Given the description of an element on the screen output the (x, y) to click on. 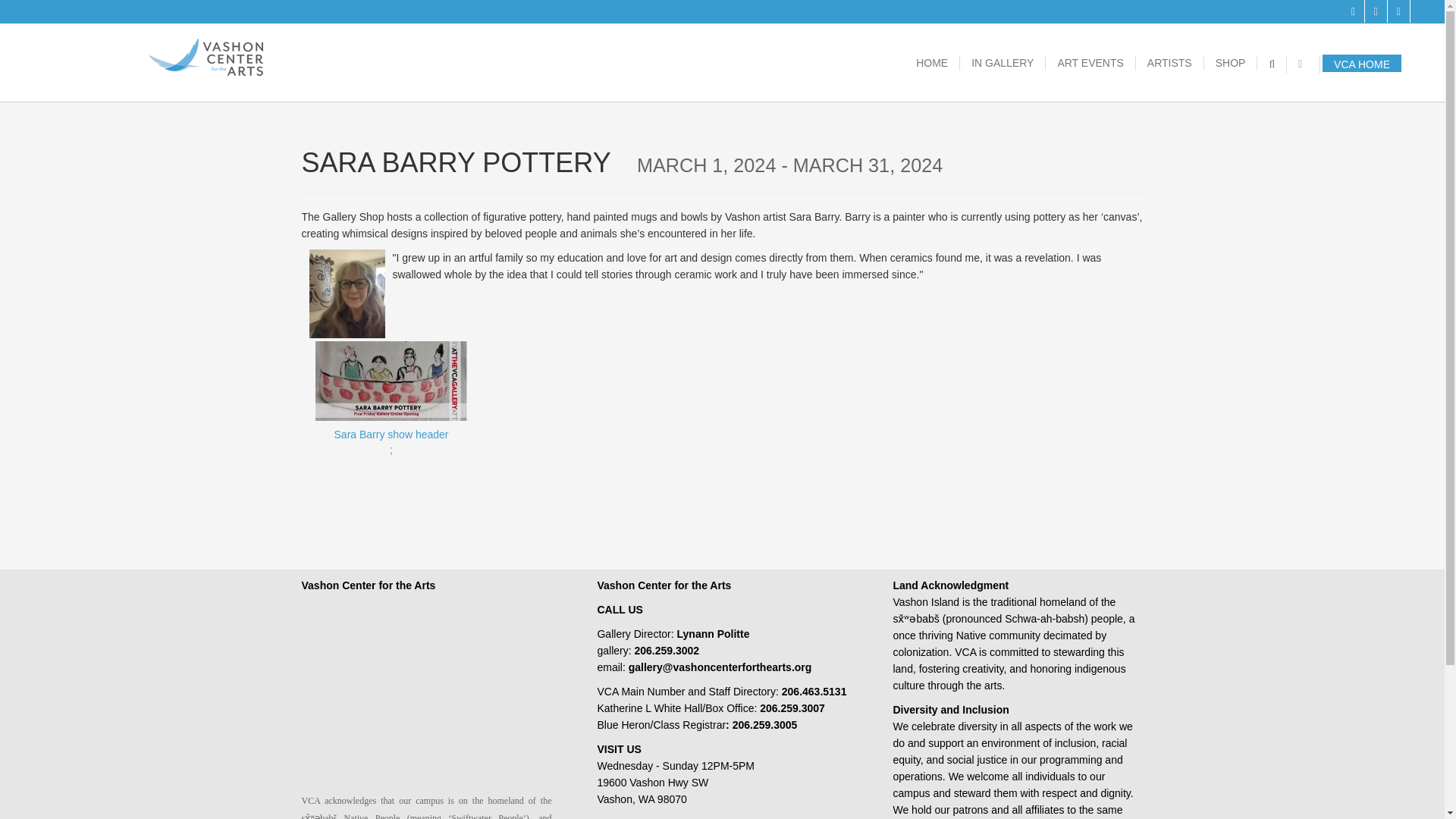
IN GALLERY (1002, 62)
Facebook (1376, 11)
Instagram (391, 457)
ARTISTS (1353, 11)
Youtube (1169, 62)
HOME (1398, 11)
ART EVENTS (931, 62)
VCA HOME (1090, 62)
